Given the description of an element on the screen output the (x, y) to click on. 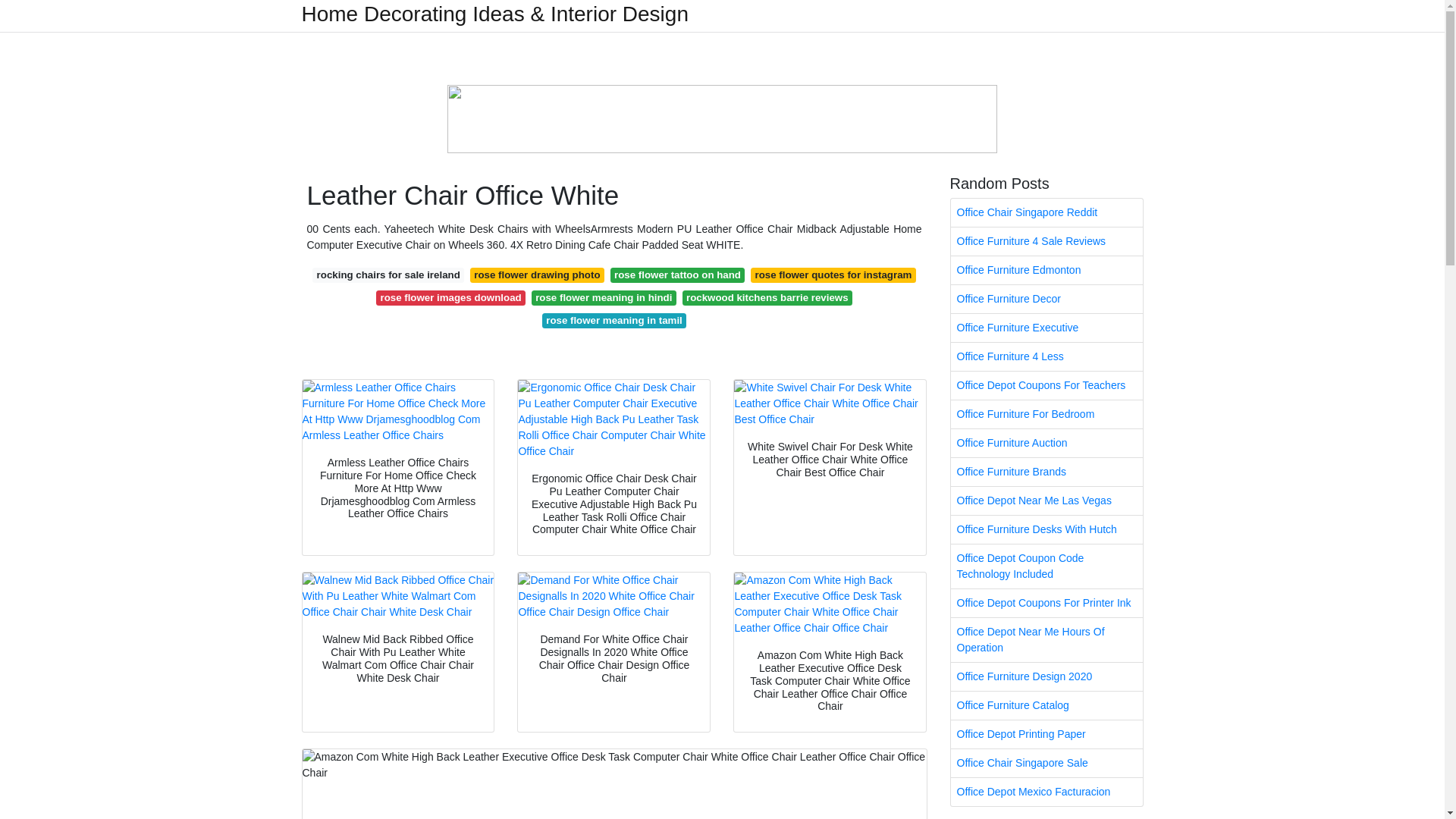
rose flower drawing photo (537, 274)
rocking chairs for sale ireland (388, 274)
Office Chair Singapore Reddit (1046, 212)
rose flower tattoo on hand (677, 274)
rose flower quotes for instagram (833, 274)
Office Furniture Auction (1046, 443)
Office Depot Coupons For Teachers (1046, 385)
Office Furniture Decor (1046, 298)
Office Furniture Executive (1046, 327)
rose flower meaning in hindi (604, 297)
Office Furniture 4 Sale Reviews (1046, 241)
rose flower meaning in tamil (613, 320)
Office Furniture For Bedroom (1046, 414)
rose flower images download (450, 297)
rockwood kitchens barrie reviews (766, 297)
